Given the description of an element on the screen output the (x, y) to click on. 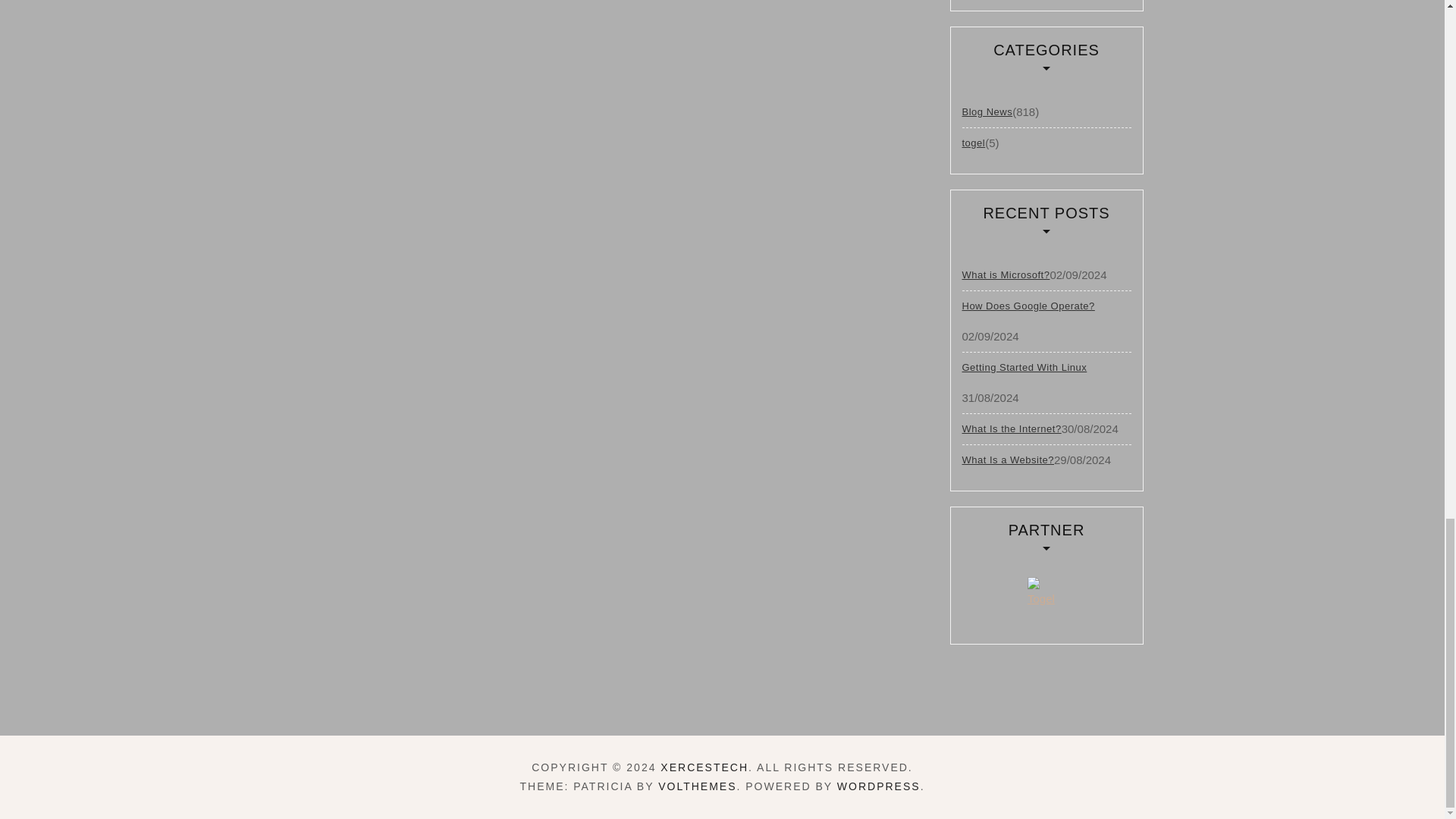
Togel Hari Ini (1046, 594)
VolThemes (697, 785)
WordPress (878, 785)
Xercestech (704, 767)
